Given the description of an element on the screen output the (x, y) to click on. 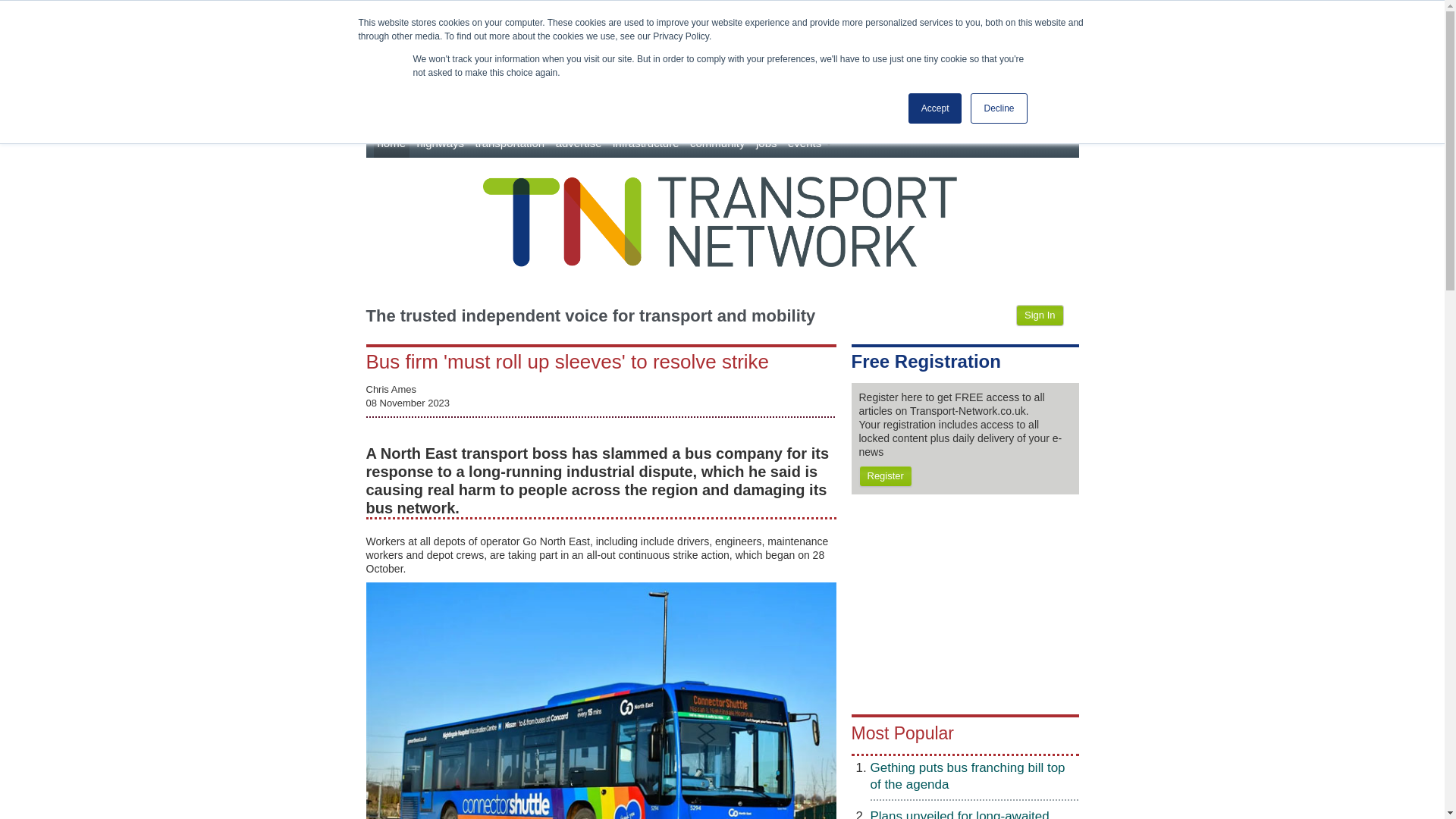
Click here (130, 14)
jobs (766, 142)
infrastructure (645, 142)
home (390, 142)
advertise (578, 142)
Decline (998, 108)
community (717, 142)
transportation (509, 142)
Accept (935, 108)
events (809, 142)
highways (439, 142)
Sign In (1039, 315)
